Given the description of an element on the screen output the (x, y) to click on. 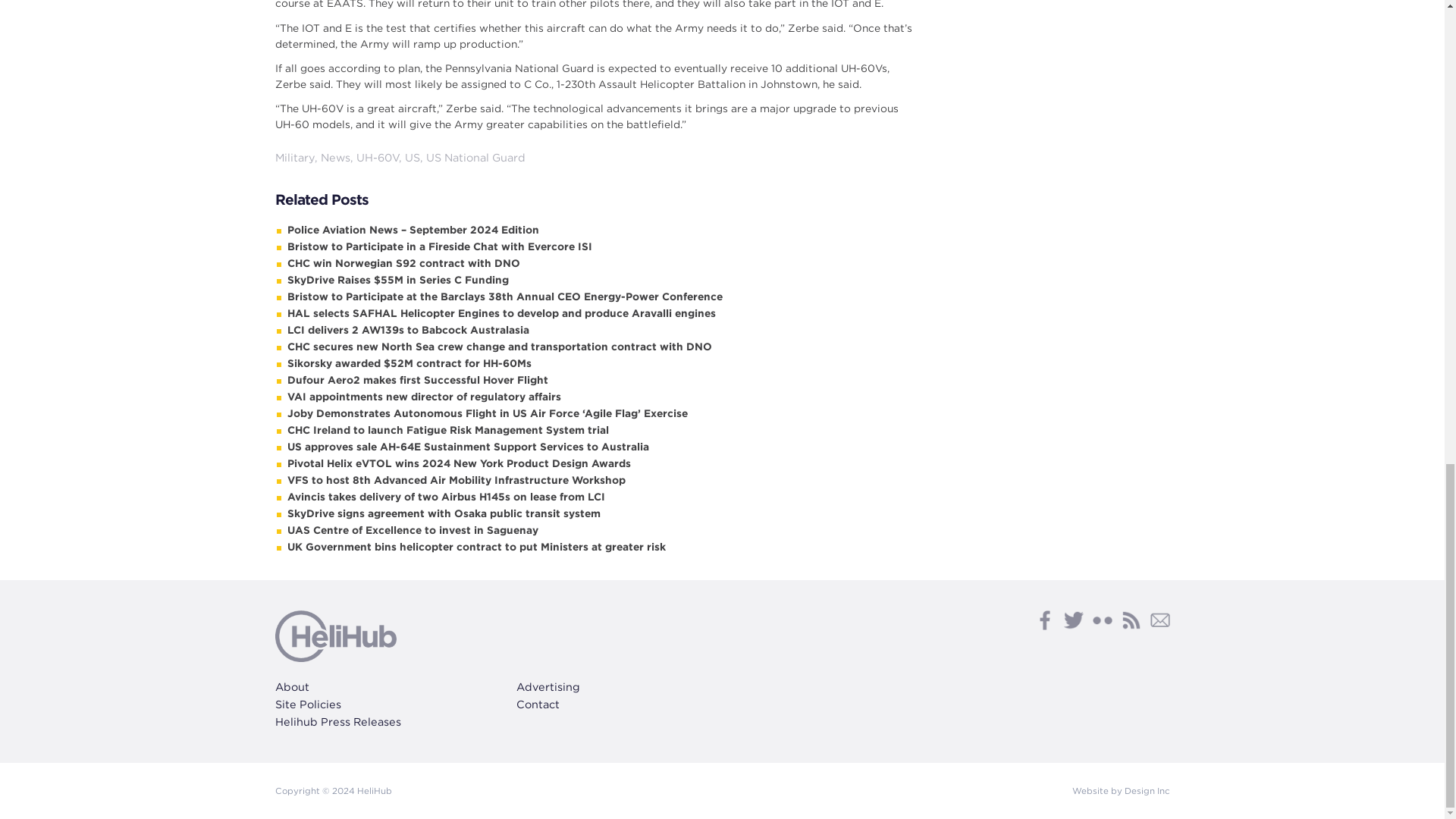
RSS (1130, 619)
Helihub (335, 635)
Twitter (1072, 619)
Facebook (1043, 619)
Flickr (1102, 619)
Subscribe (1159, 619)
